Given the description of an element on the screen output the (x, y) to click on. 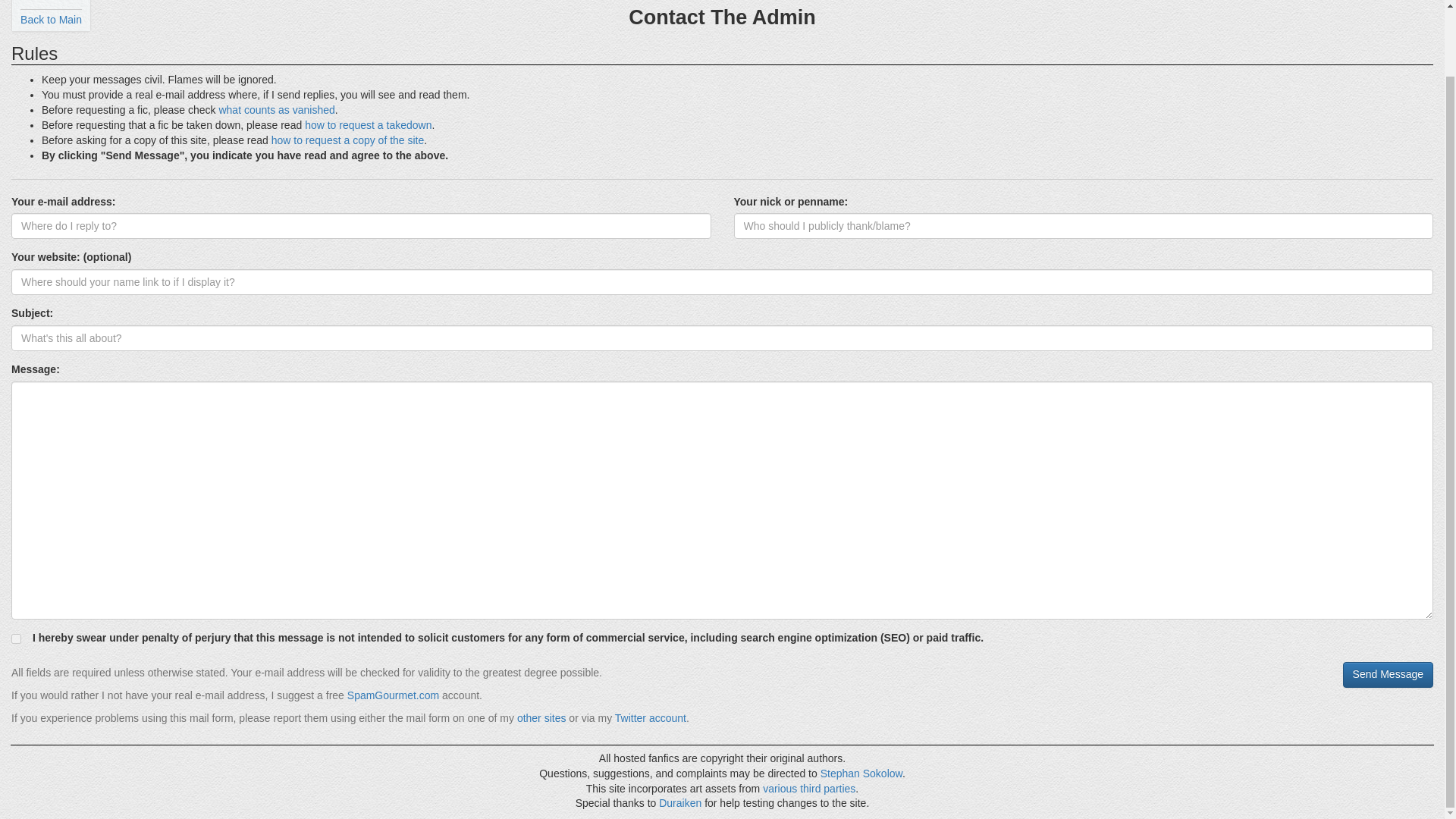
Contact Form (861, 773)
on (16, 638)
other (528, 717)
how to request a takedown (367, 124)
Send Message (1387, 674)
Duraiken (680, 802)
Stephan Sokolow (861, 773)
Send Message (1387, 674)
Twitter account (649, 717)
SpamGourmet.com (393, 695)
sites (555, 717)
Rules (44, 0)
VFFA Main Page (50, 19)
how to request a copy of the site (347, 140)
Back to Main (50, 19)
